Given the description of an element on the screen output the (x, y) to click on. 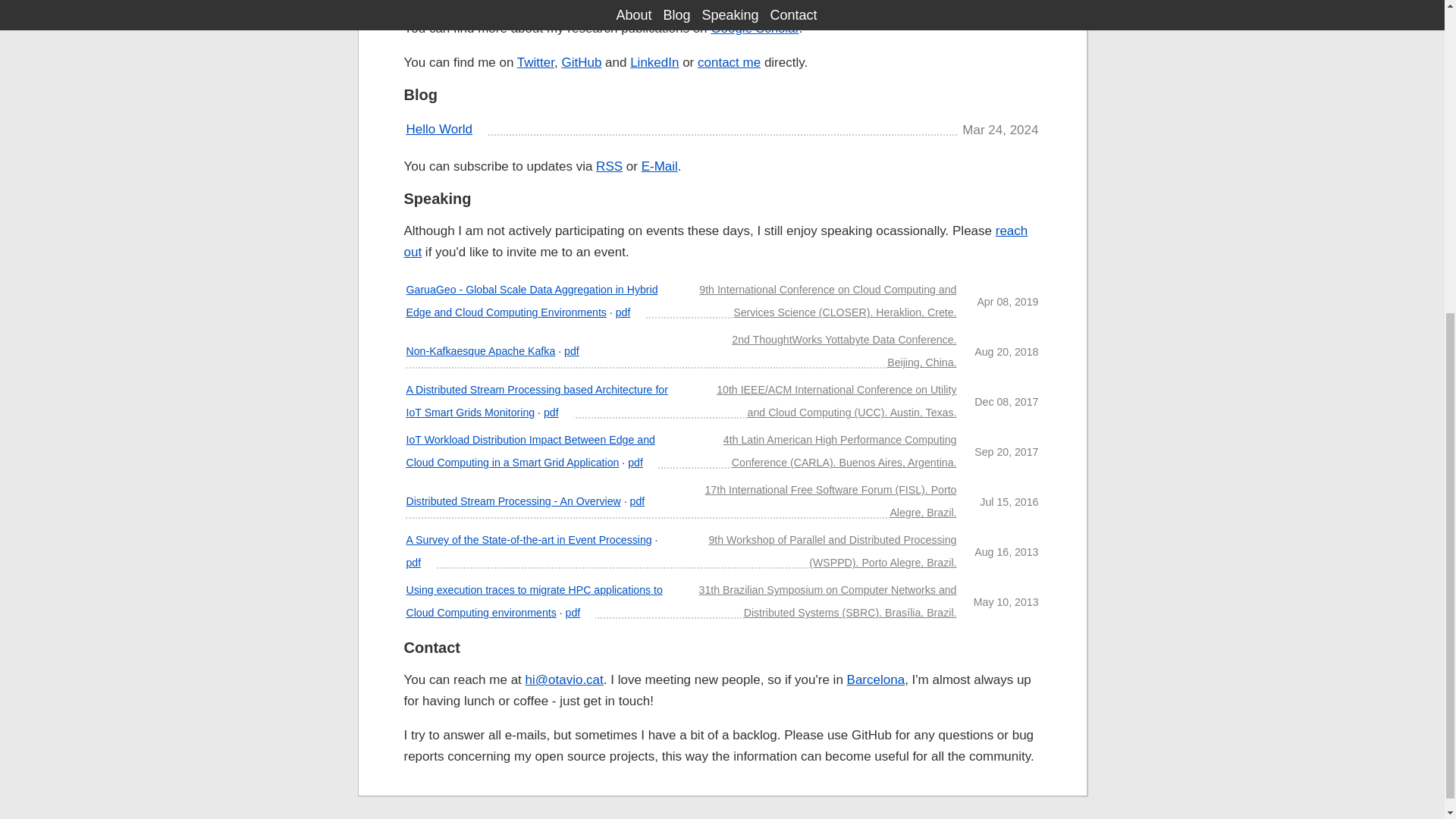
pdf (414, 562)
Google Scholar (753, 28)
RSS (609, 165)
pdf (551, 412)
2nd ThoughtWorks Yottabyte Data Conference. Beijing, China. (844, 350)
pdf (622, 312)
Hello World (439, 129)
contact me (728, 62)
Distributed Stream Processing - An Overview (513, 500)
GitHub (580, 62)
Non-Kafkaesque Apache Kafka (481, 350)
Blog (419, 94)
A Survey of the State-of-the-art in Event Processing (529, 539)
